Given the description of an element on the screen output the (x, y) to click on. 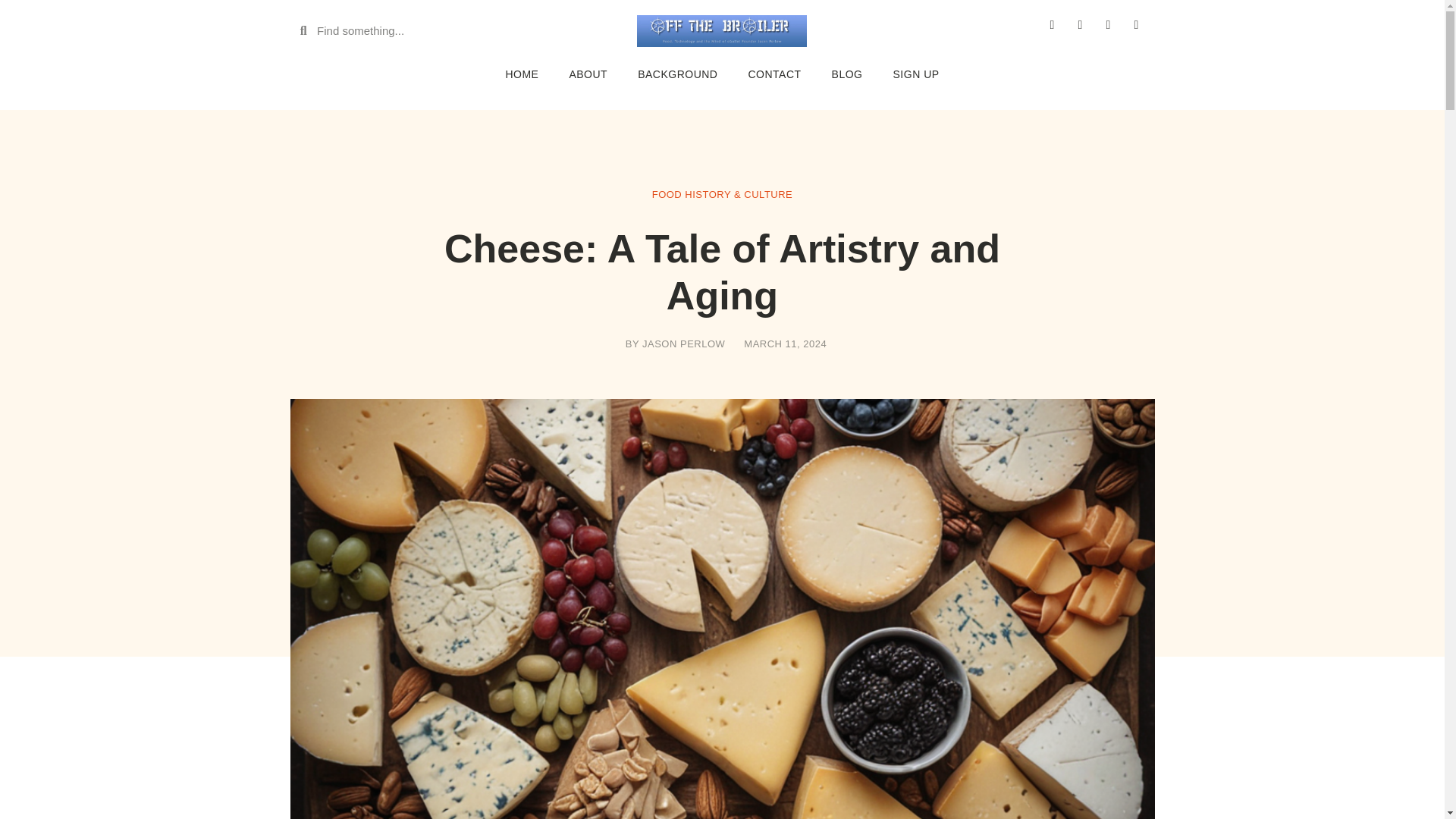
MARCH 11, 2024 (781, 343)
BACKGROUND (677, 74)
BY JASON PERLOW (671, 343)
HOME (521, 74)
CONTACT (773, 74)
SIGN UP (916, 74)
ABOUT (588, 74)
BLOG (846, 74)
